Given the description of an element on the screen output the (x, y) to click on. 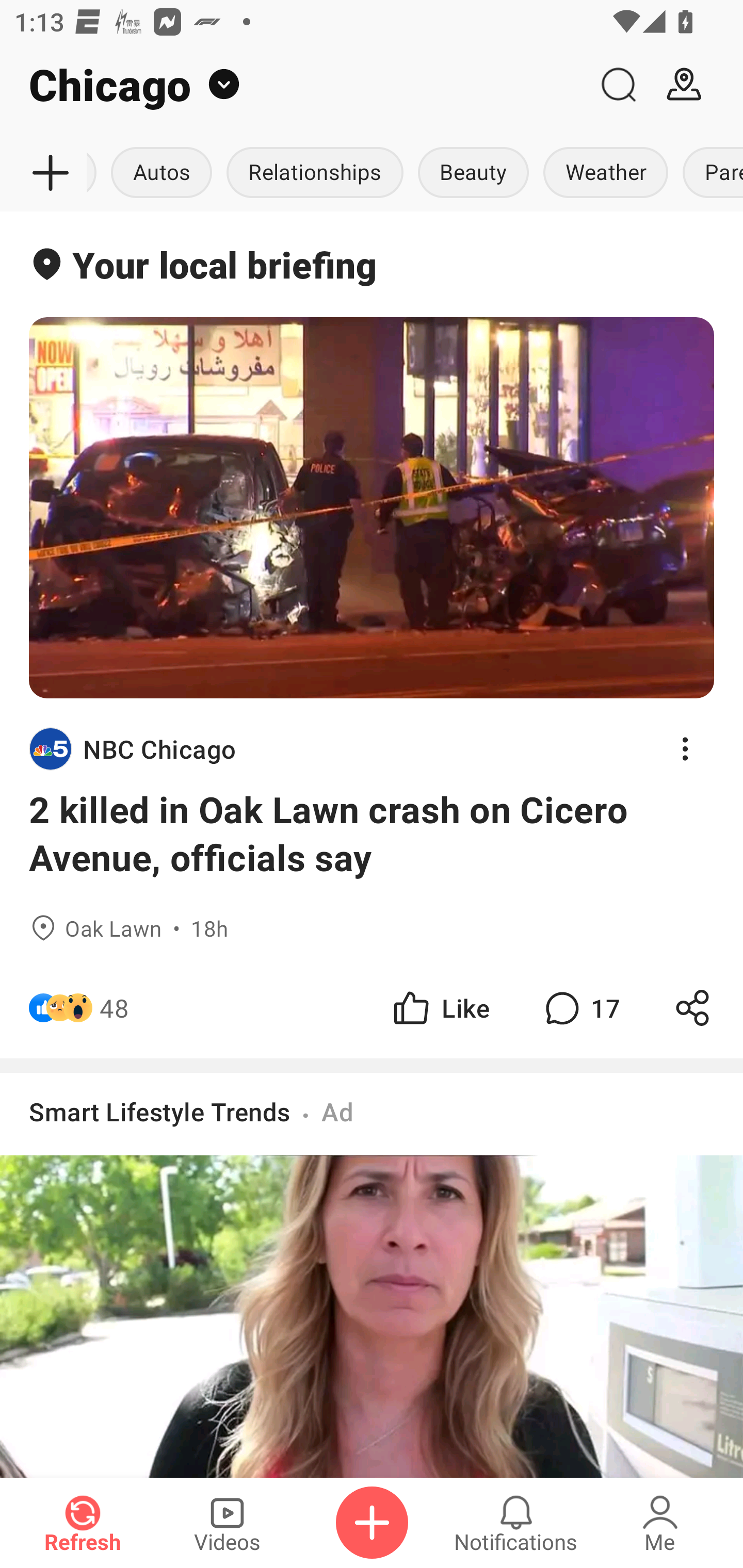
Chicago (292, 84)
Autos (161, 172)
Relationships (314, 172)
Beauty (473, 172)
Weather (605, 172)
48 (114, 1007)
Like (439, 1007)
17 (579, 1007)
Smart Lifestyle Trends (159, 1111)
Videos (227, 1522)
Notifications (516, 1522)
Me (659, 1522)
